Given the description of an element on the screen output the (x, y) to click on. 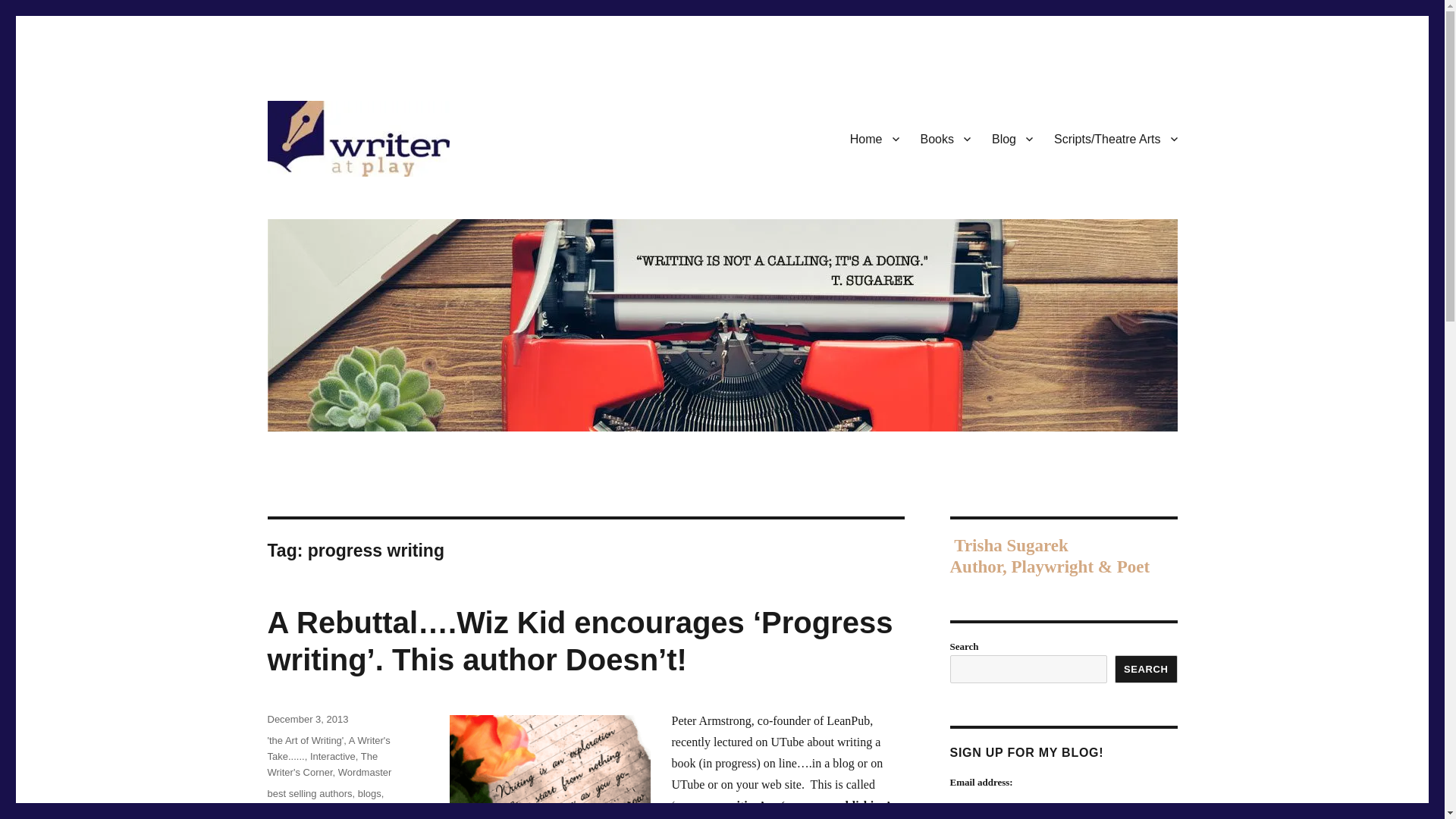
Books (945, 122)
Blog (1012, 122)
Home (875, 122)
Subscribe (989, 815)
